Given the description of an element on the screen output the (x, y) to click on. 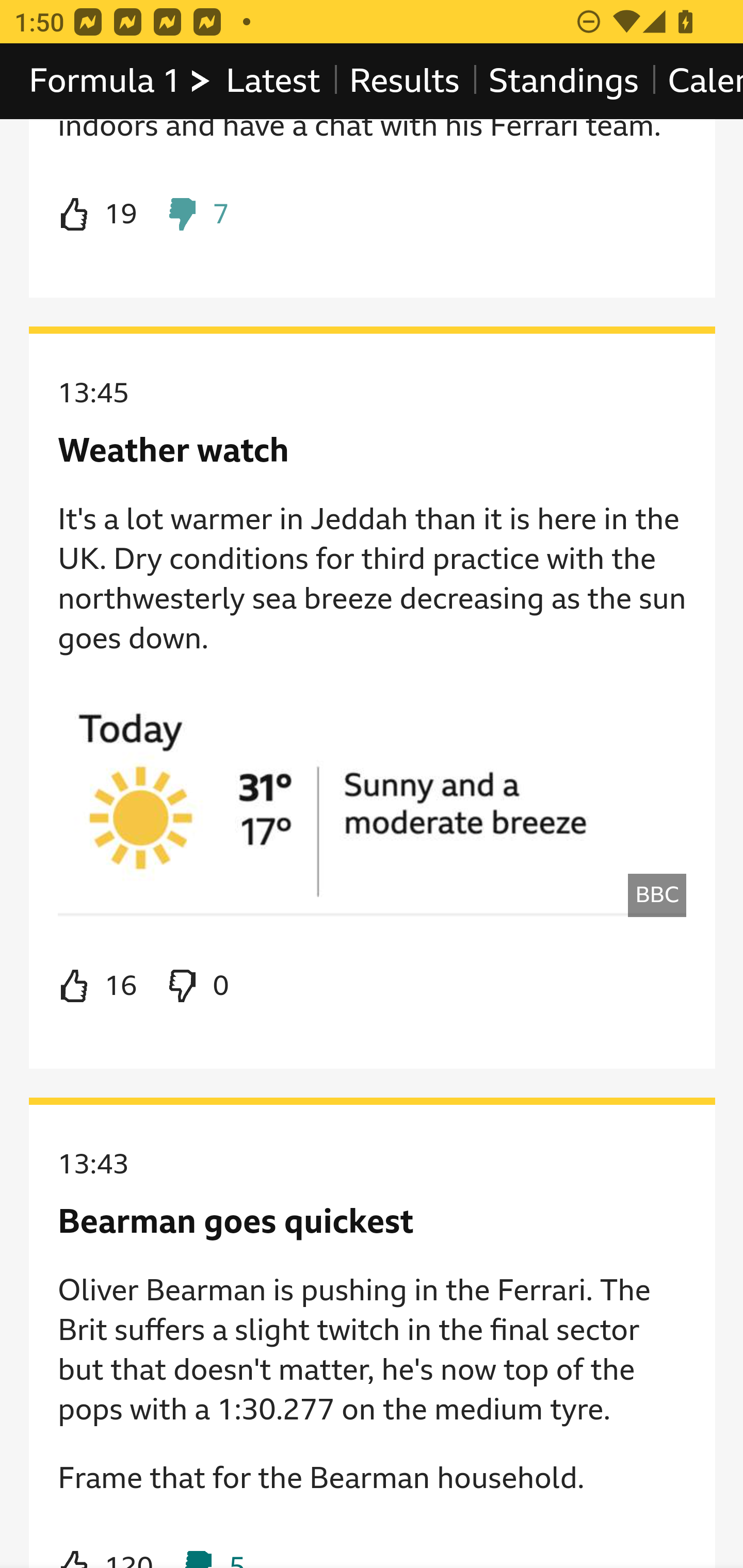
Like (97, 214)
Disliked (196, 214)
Like (97, 986)
Dislike (196, 986)
